Given the description of an element on the screen output the (x, y) to click on. 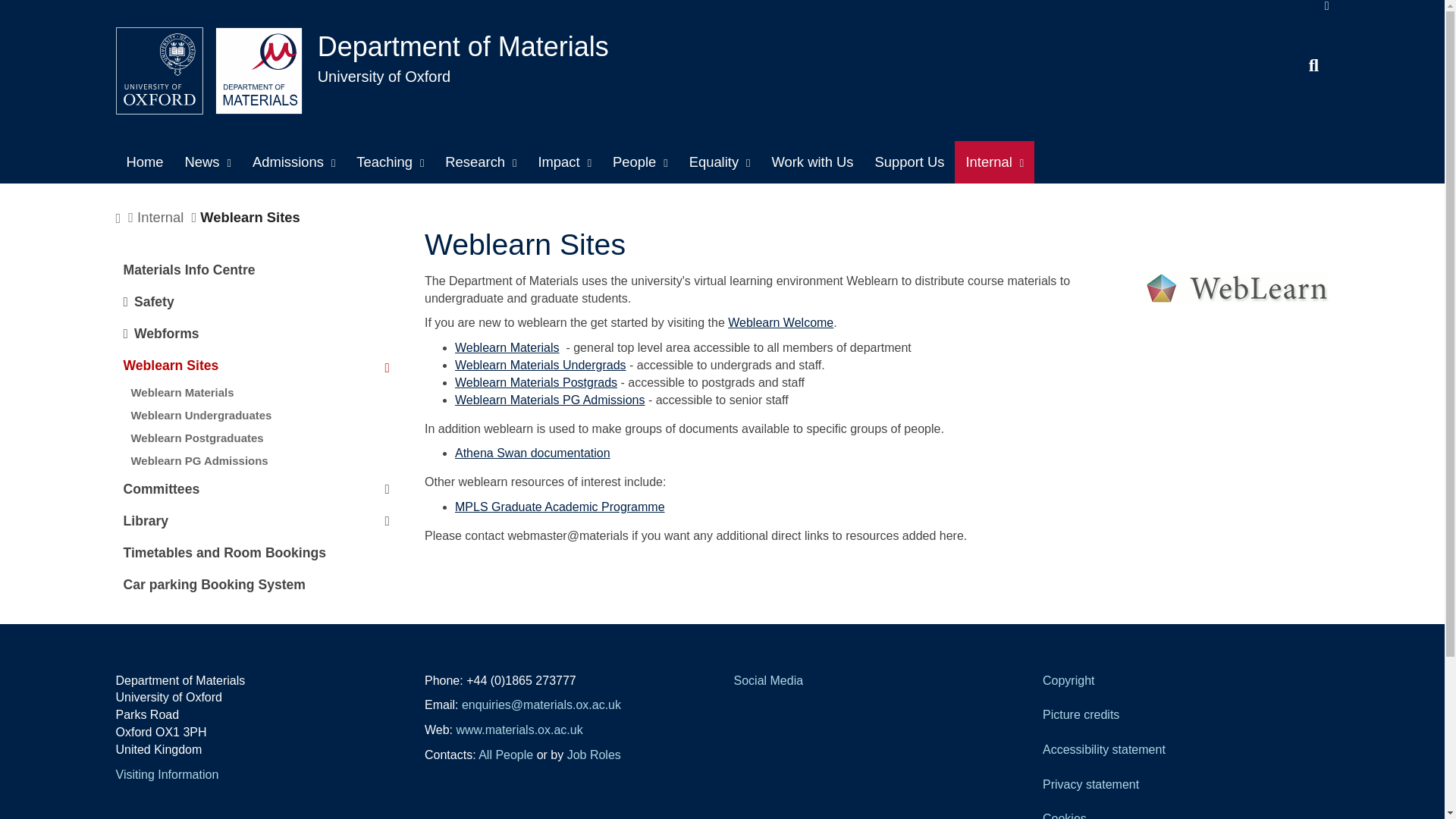
Admissions (293, 161)
Teaching (389, 161)
Home (144, 161)
Department of Materials (462, 46)
News (207, 161)
